Given the description of an element on the screen output the (x, y) to click on. 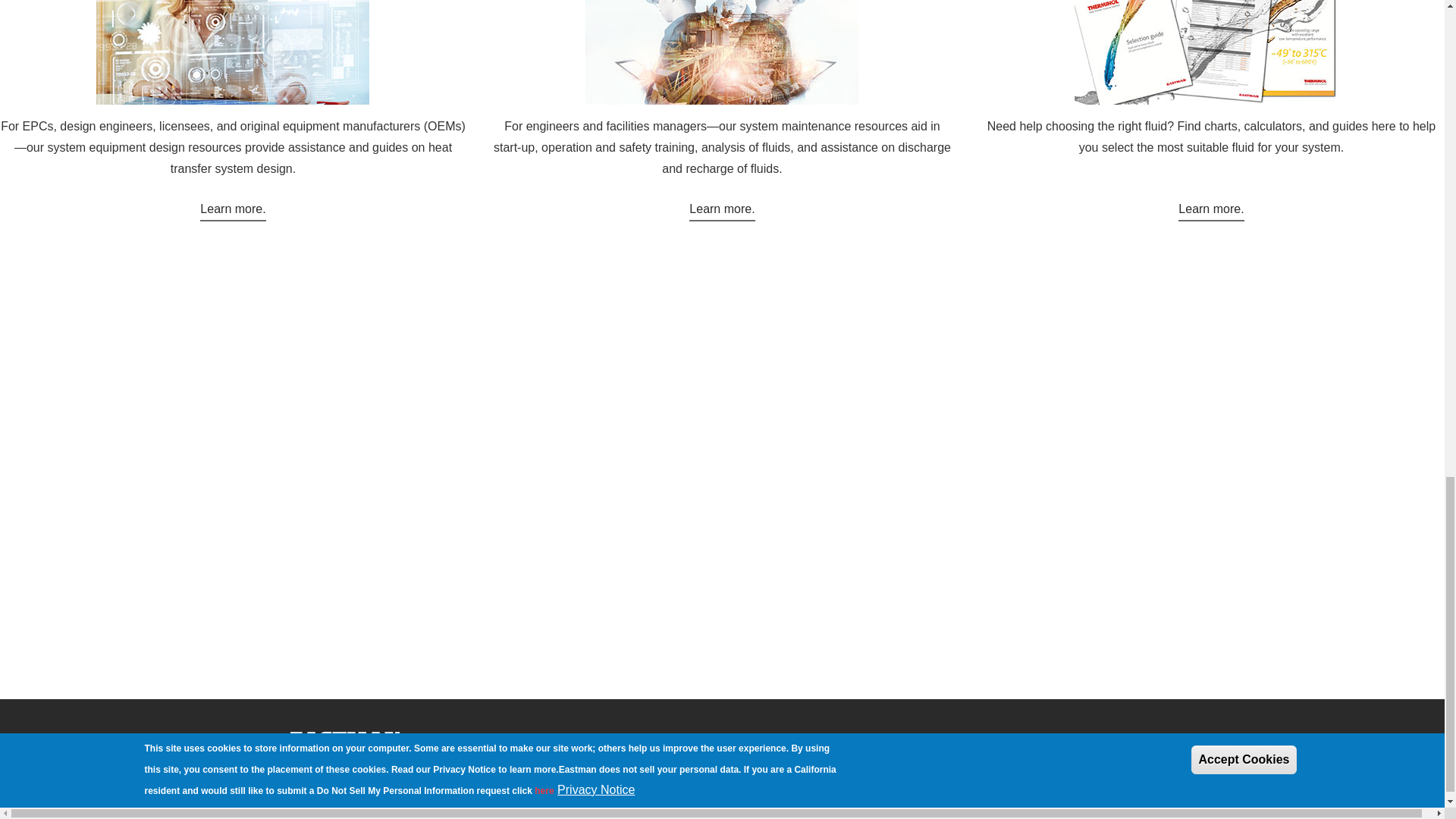
Eastman (343, 737)
